Given the description of an element on the screen output the (x, y) to click on. 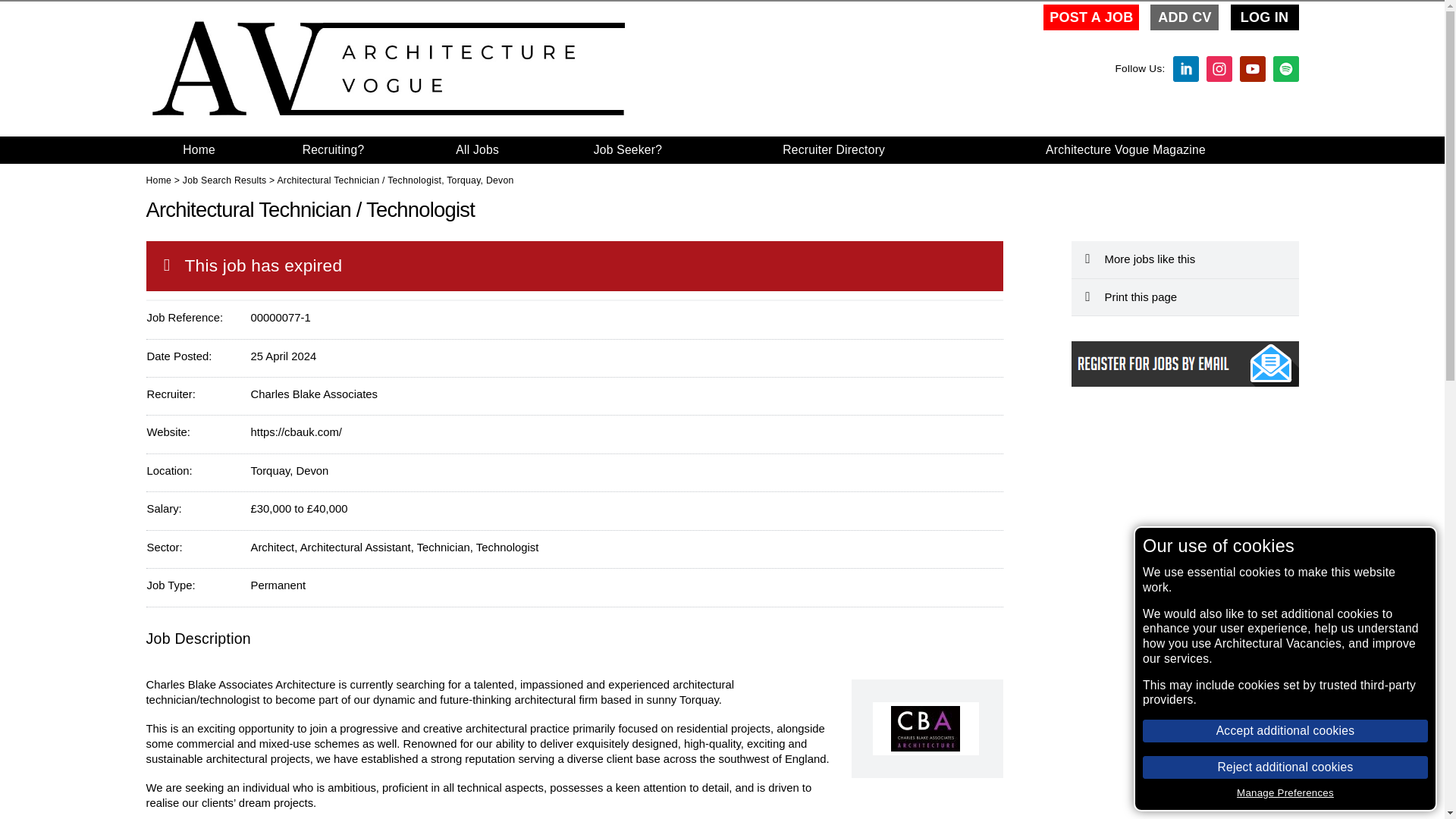
Reject additional cookies (1285, 766)
ADD CV (1184, 17)
Job Seeker? (627, 149)
More jobs like this (1184, 259)
Print this page (1184, 297)
Follow us on YouTube (1252, 68)
Accept additional cookies (1285, 730)
Recruiting? (332, 149)
Recruiter Directory (833, 149)
All Jobs (476, 149)
Follow us on LinkedIn (1185, 68)
Manage Preferences (1284, 792)
Job Search Results (224, 180)
Follow us on Instagram (1218, 68)
POST A JOB (1090, 17)
